Given the description of an element on the screen output the (x, y) to click on. 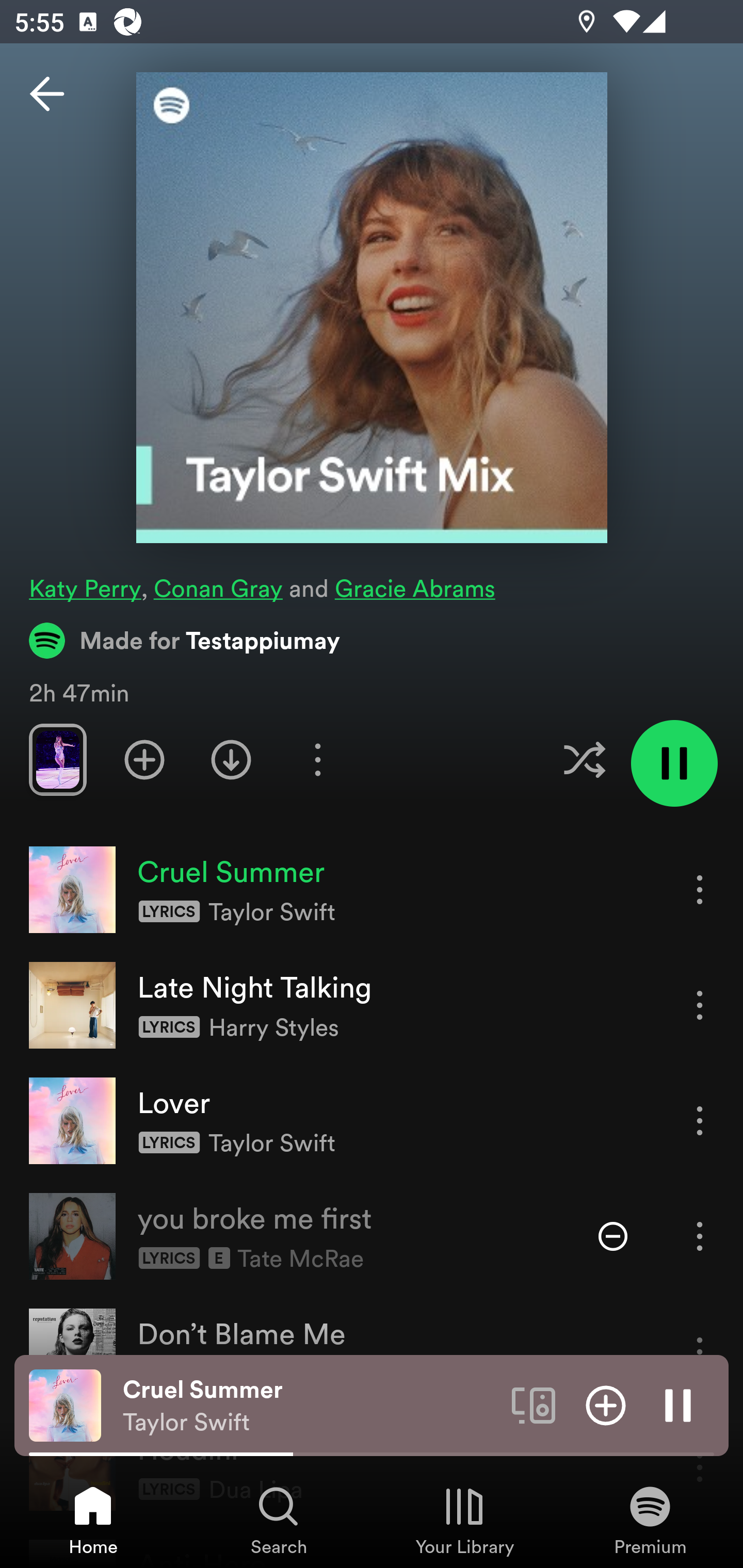
Back (46, 93)
Made for Testappiumay (184, 640)
Add playlist to Your Library (144, 759)
Download (230, 759)
More options for playlist Taylor Swift Mix (317, 759)
Enable shuffle for this playlist (583, 759)
Pause playlist (674, 763)
More options for song Cruel Summer (699, 889)
More options for song Late Night Talking (699, 1004)
More options for song Lover (699, 1120)
Allow to play this song (612, 1236)
More options for song you broke me first (699, 1236)
Cruel Summer Taylor Swift (309, 1405)
The cover art of the currently playing track (64, 1404)
Connect to a device. Opens the devices menu (533, 1404)
Add item (605, 1404)
Pause (677, 1404)
Home, Tab 1 of 4 Home Home (92, 1519)
Search, Tab 2 of 4 Search Search (278, 1519)
Your Library, Tab 3 of 4 Your Library Your Library (464, 1519)
Premium, Tab 4 of 4 Premium Premium (650, 1519)
